Given the description of an element on the screen output the (x, y) to click on. 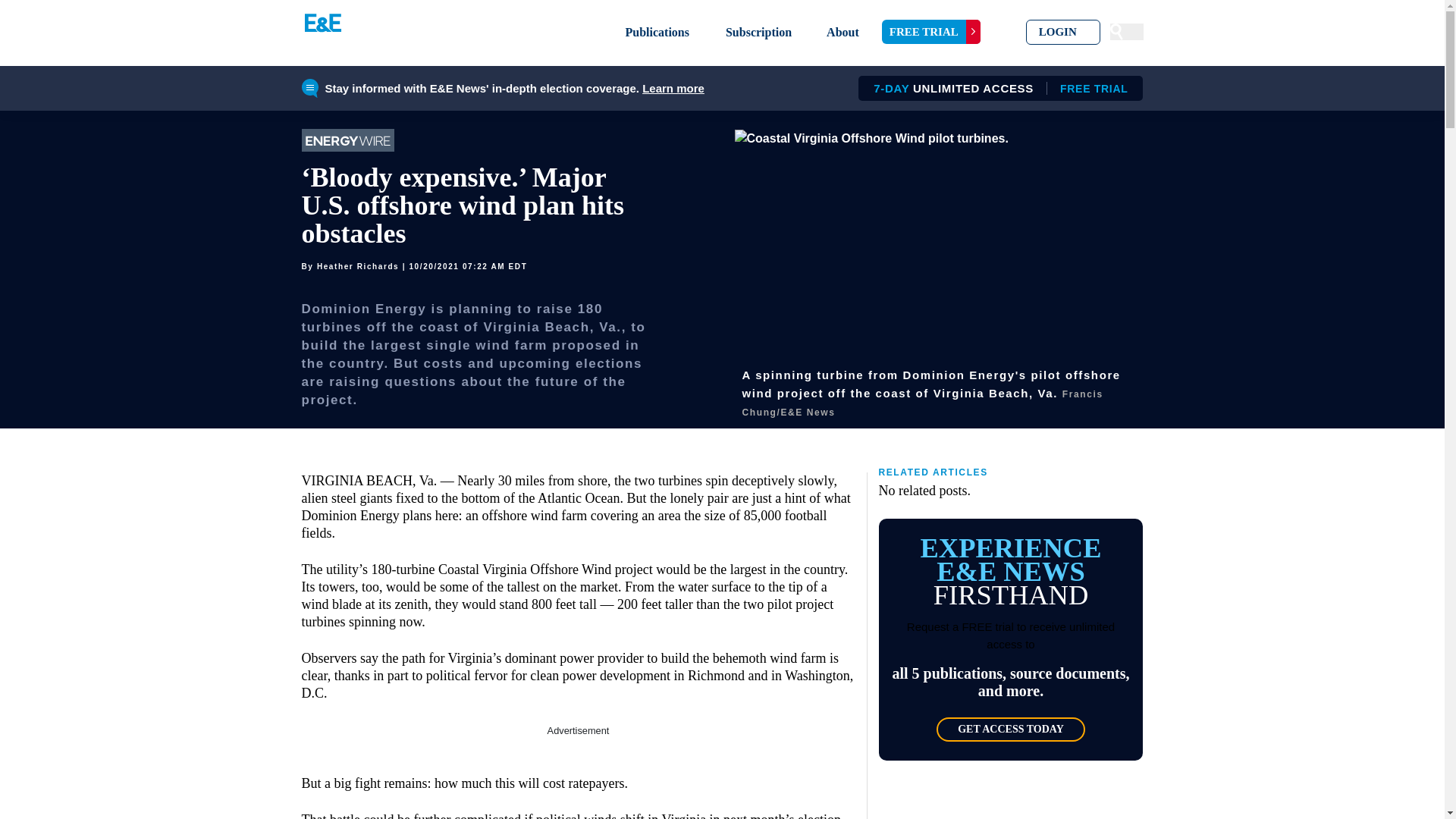
About (843, 32)
Subscription (758, 32)
FREE TRIAL (930, 31)
Learn more (673, 88)
LOGIN (1063, 32)
GET ACCESS TODAY (1010, 729)
Publications (656, 32)
